Given the description of an element on the screen output the (x, y) to click on. 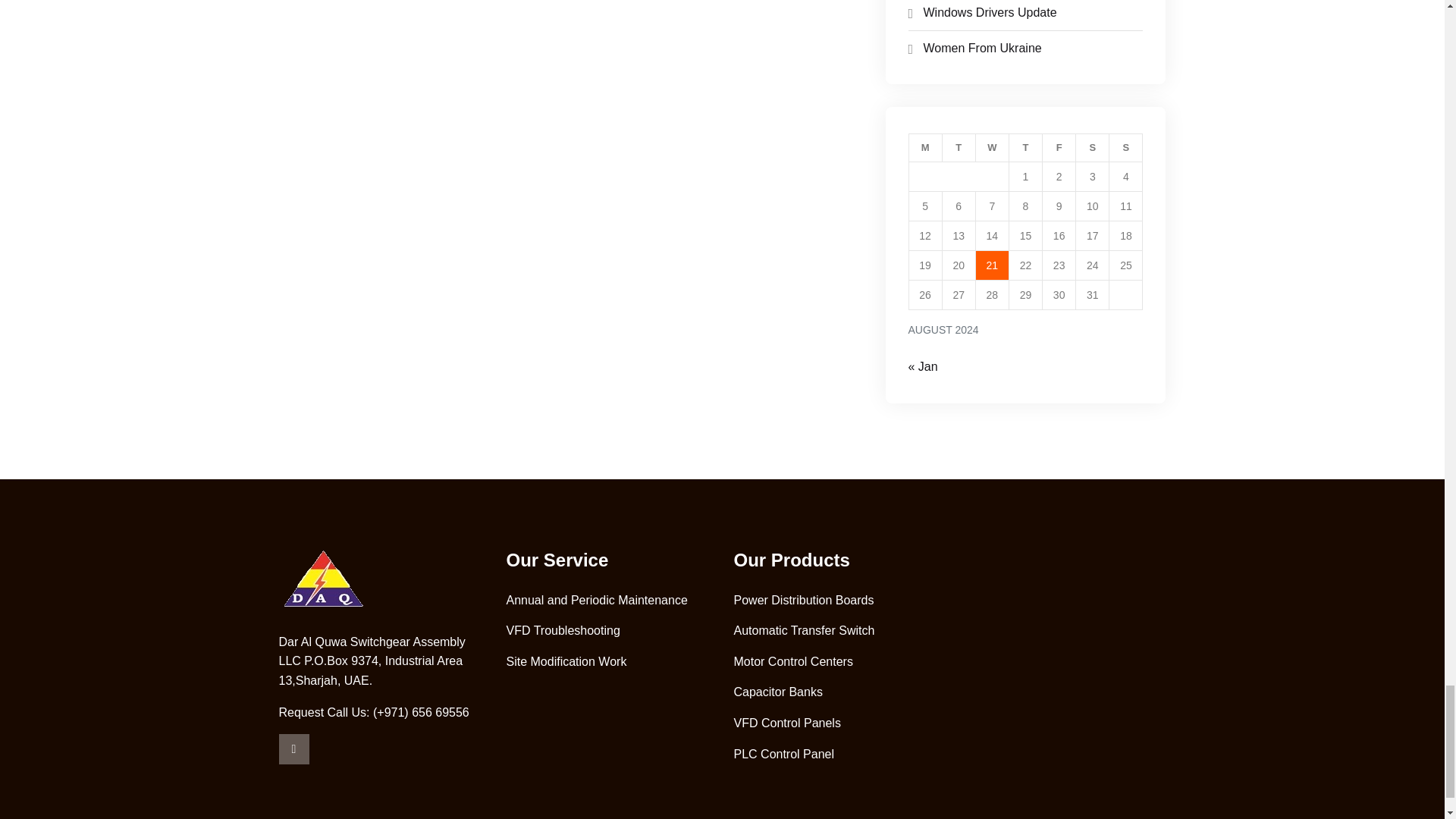
Thursday (1025, 148)
Sunday (1125, 148)
Monday (925, 148)
Friday (1058, 148)
Tuesday (958, 148)
Wednesday (992, 148)
Facebook (293, 748)
Saturday (1092, 148)
